Given the description of an element on the screen output the (x, y) to click on. 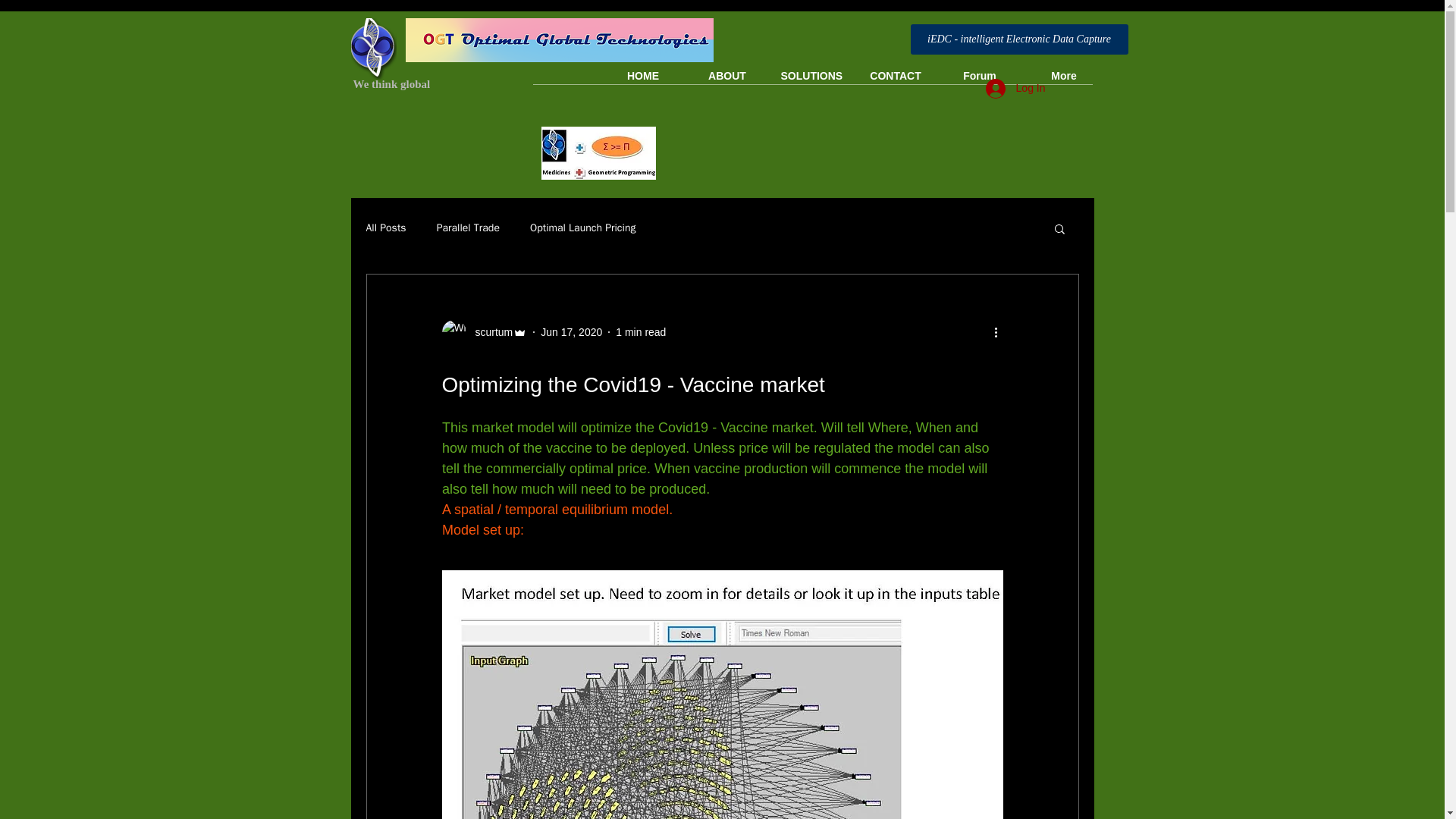
Parallel Trade (467, 228)
Log In (1016, 88)
scurtum (488, 332)
StatogenBottomLogo1.png (373, 48)
SOLUTIONS (810, 75)
HOME (641, 75)
1 min read (640, 331)
Forum (979, 75)
iEDC - intelligent Electronic Data Capture (1018, 39)
All Posts (385, 228)
ABOUT (727, 75)
Optimal Launch Pricing (582, 228)
CONTACT (895, 75)
Jun 17, 2020 (571, 331)
scurtum (484, 331)
